Given the description of an element on the screen output the (x, y) to click on. 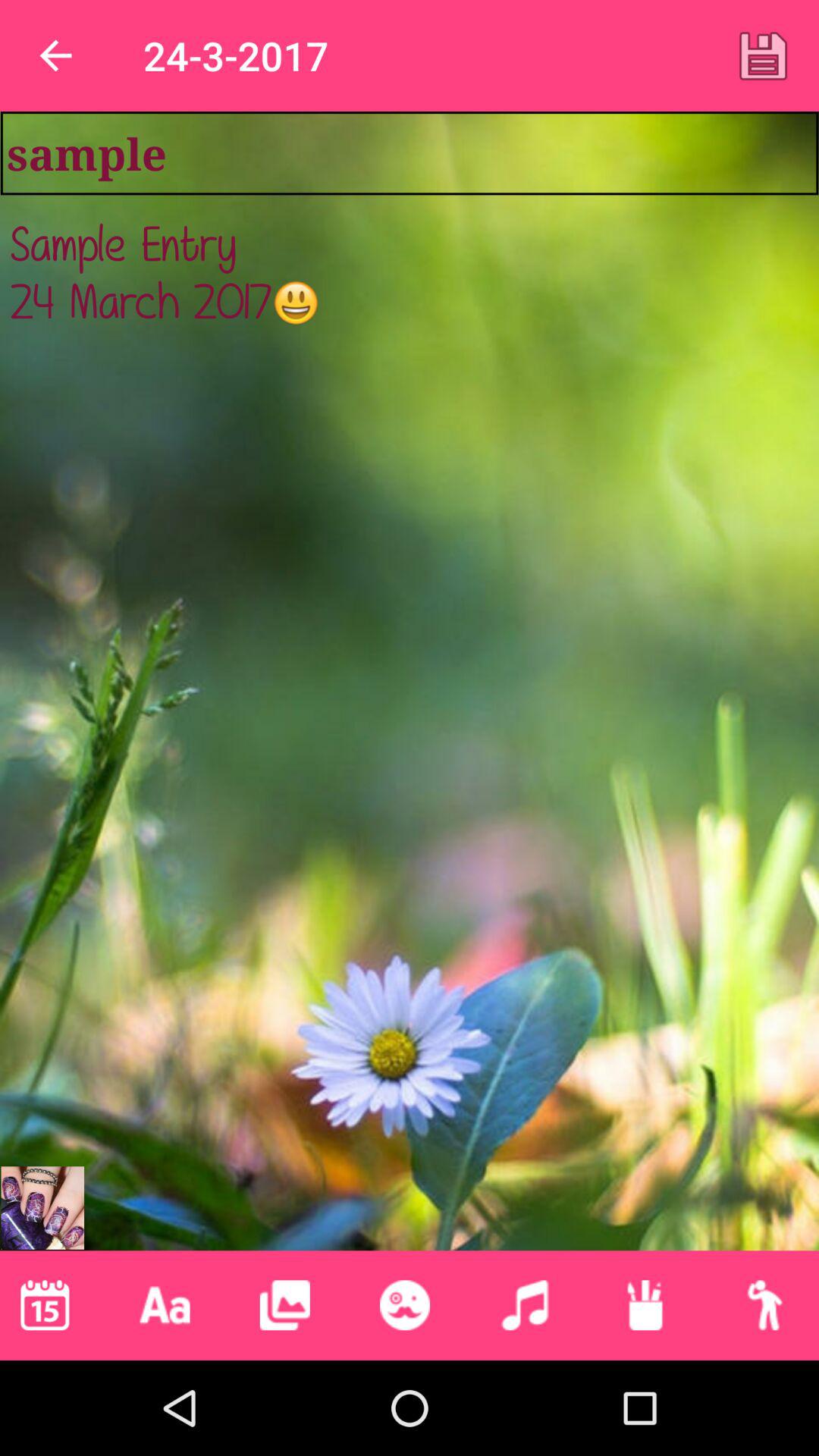
suggested marketing (42, 1207)
